Given the description of an element on the screen output the (x, y) to click on. 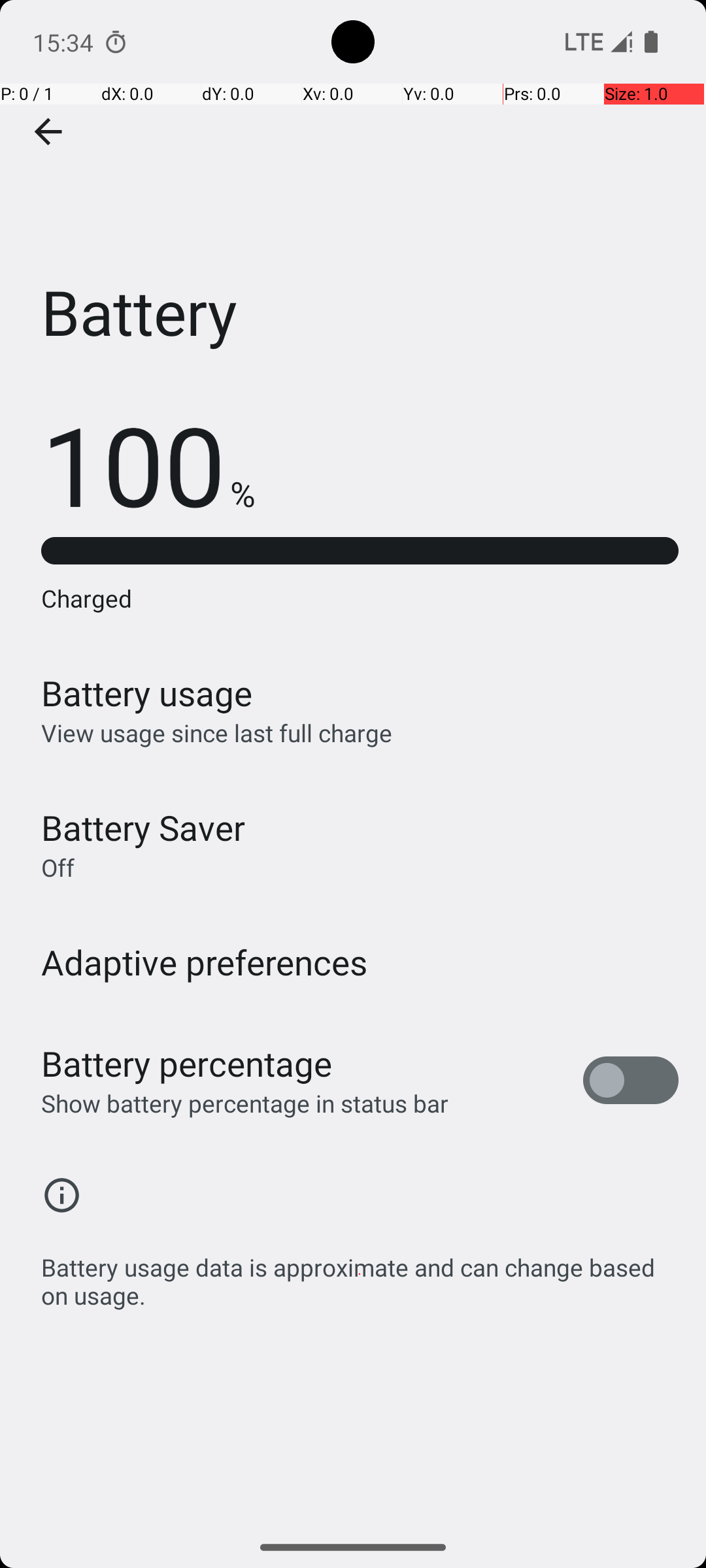
Charged Element type: android.widget.TextView (359, 597)
View usage since last full charge Element type: android.widget.TextView (216, 732)
Battery percentage Element type: android.widget.TextView (186, 1063)
Show battery percentage in status bar Element type: android.widget.TextView (244, 1102)
Battery usage data is approximate and can change based on usage. Element type: android.widget.TextView (359, 1274)
